Given the description of an element on the screen output the (x, y) to click on. 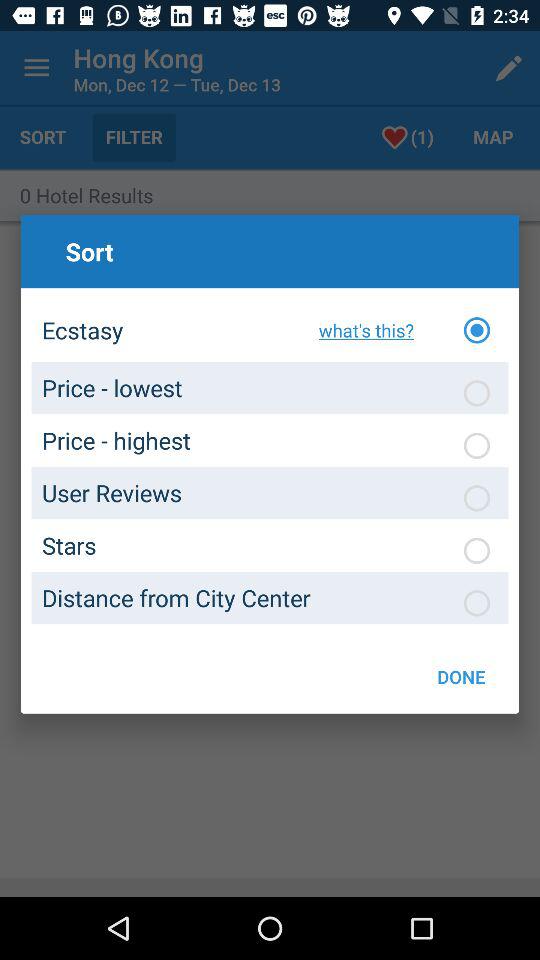
scroll to what's this? icon (360, 330)
